Given the description of an element on the screen output the (x, y) to click on. 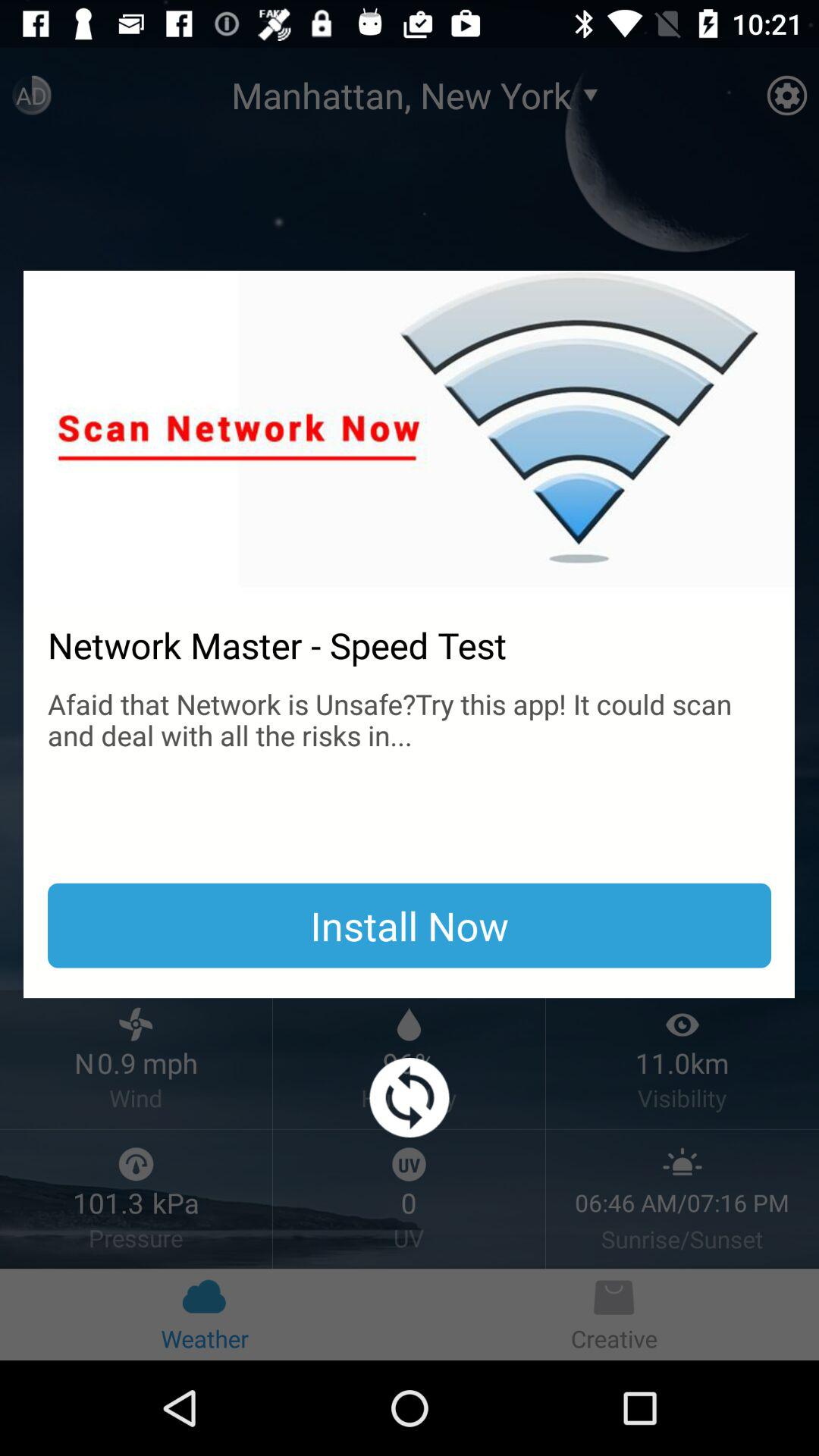
tap the item below the afaid that network item (409, 925)
